Given the description of an element on the screen output the (x, y) to click on. 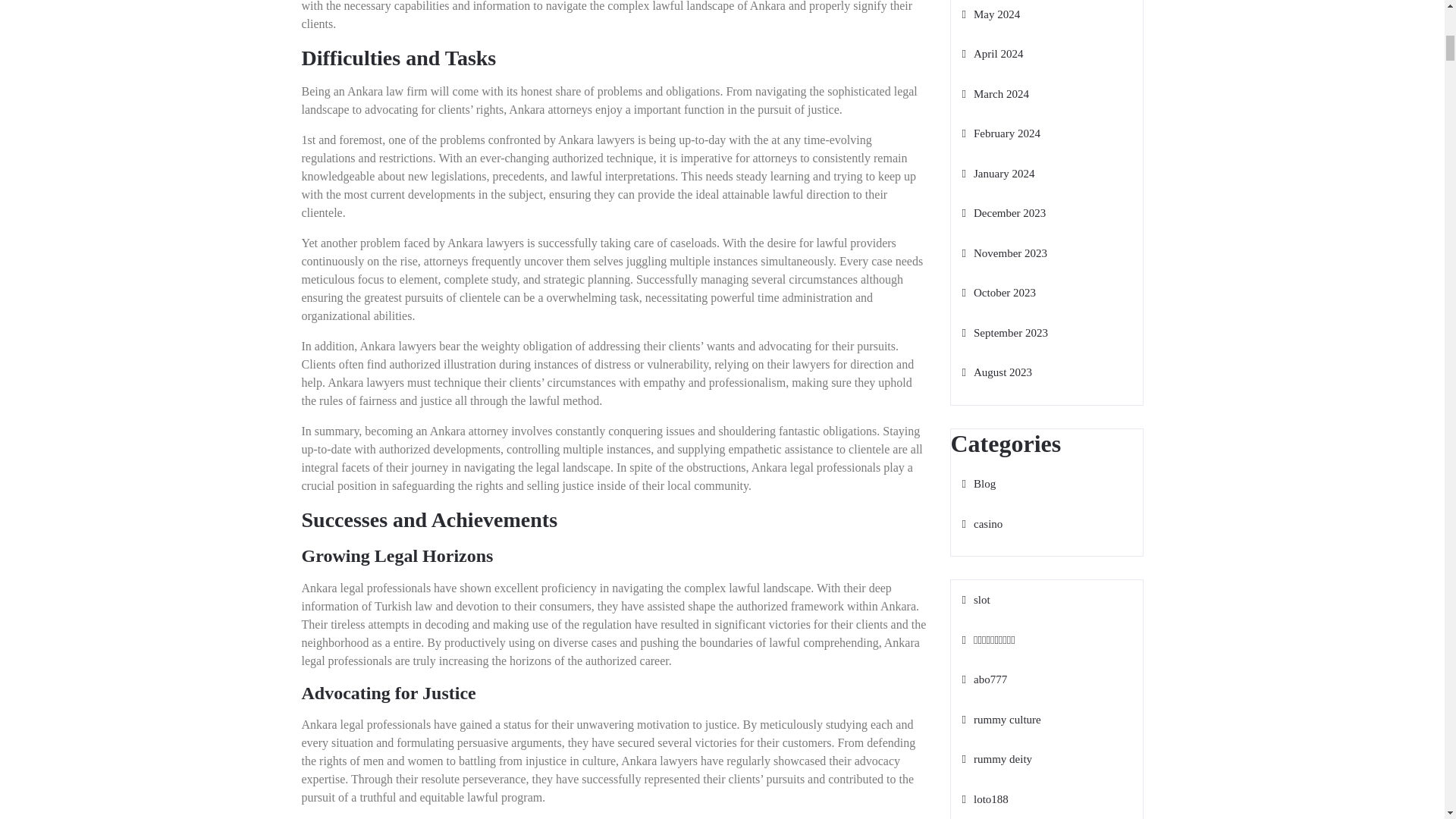
casino (981, 522)
May 2024 (990, 14)
rummy deity (996, 758)
September 2023 (1003, 332)
October 2023 (997, 292)
abo777 (983, 679)
January 2024 (996, 173)
rummy culture (1000, 718)
November 2023 (1003, 253)
April 2024 (991, 53)
February 2024 (999, 133)
loto188 (983, 799)
August 2023 (996, 372)
December 2023 (1002, 213)
Blog (977, 483)
